Given the description of an element on the screen output the (x, y) to click on. 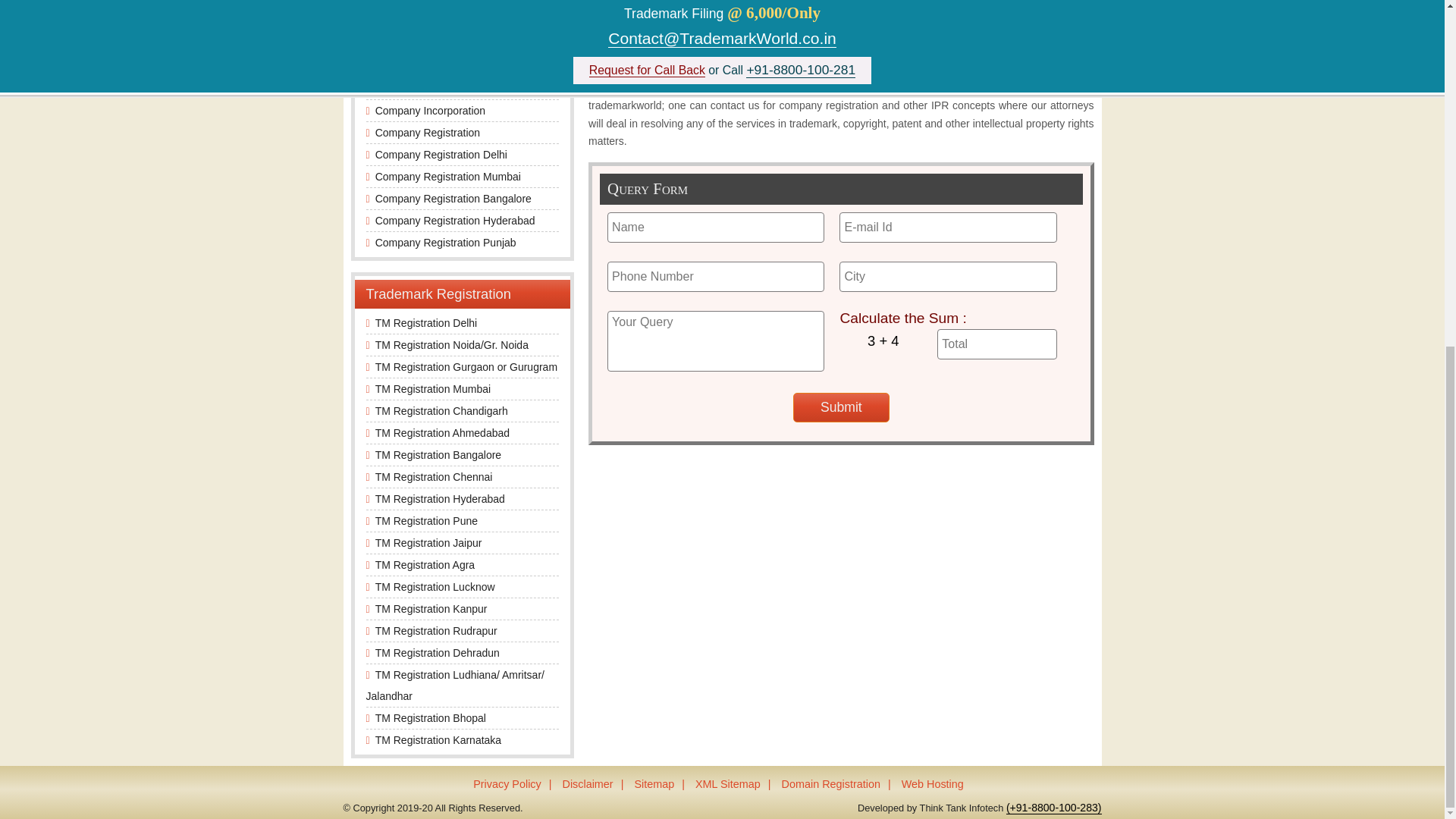
Company Registration (427, 132)
City (948, 276)
Total (997, 344)
Company Registration Delhi (440, 154)
Firm Registration (416, 66)
Phone Number (715, 276)
E-mail Id (948, 227)
Submit (841, 407)
LLP Registration (413, 88)
Name (715, 227)
Company Registration Mumbai (448, 176)
Company Incorporation (430, 110)
